Given the description of an element on the screen output the (x, y) to click on. 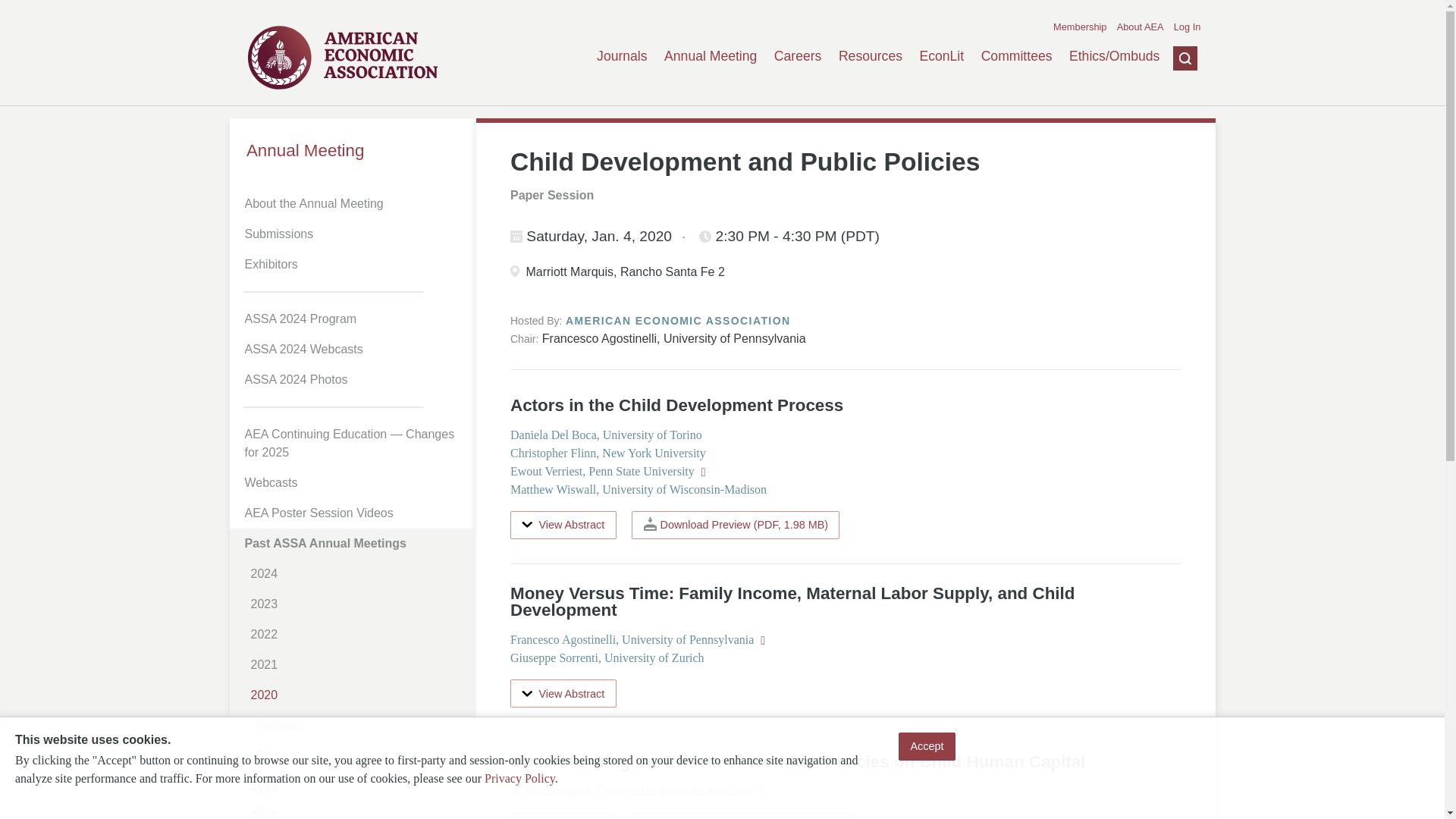
Accept (926, 746)
Past ASSA Annual Meetings (355, 543)
ASSA 2024 Webcasts (355, 349)
Annual Meeting (710, 55)
2021 (358, 665)
About AEA (1139, 26)
2022 (358, 634)
Webcasts (355, 482)
Careers (798, 55)
Search (1173, 131)
